Given the description of an element on the screen output the (x, y) to click on. 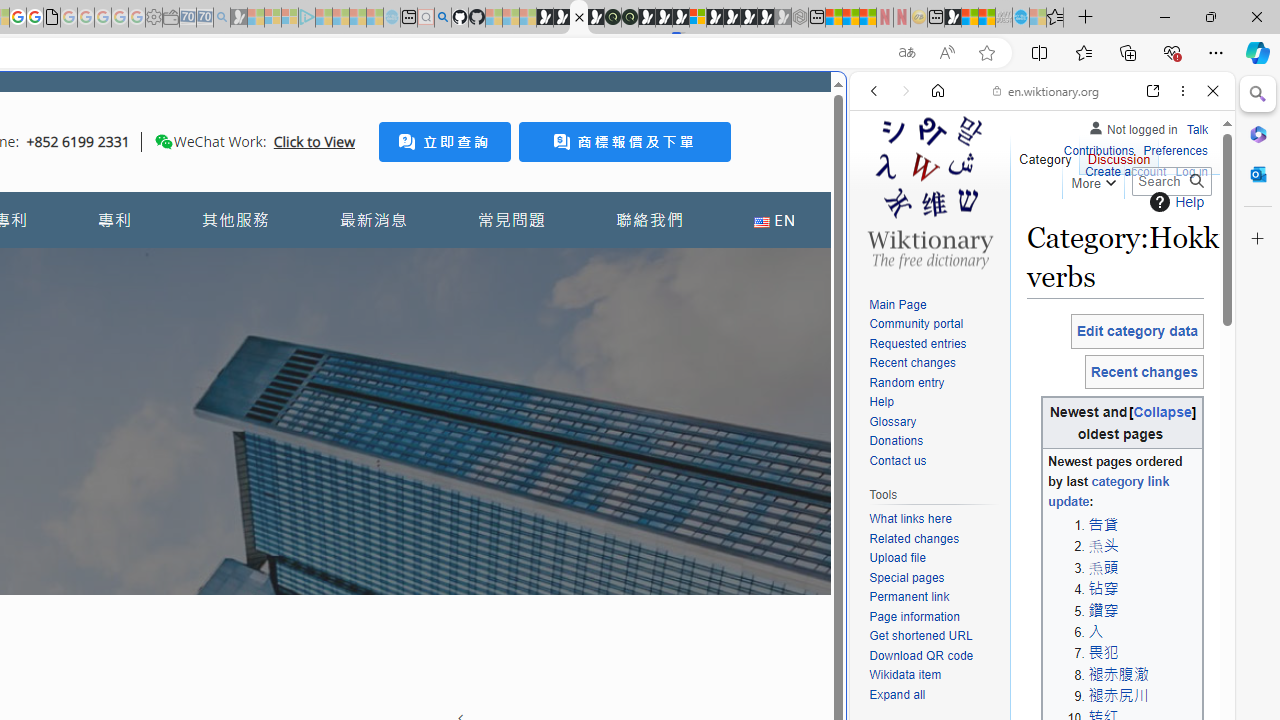
Discussion (1118, 154)
Donations (934, 442)
Recent changes (934, 363)
Community portal (916, 323)
EN (774, 220)
Earth has six continents not seven, radical new study claims (986, 17)
Page information (934, 616)
